Given the description of an element on the screen output the (x, y) to click on. 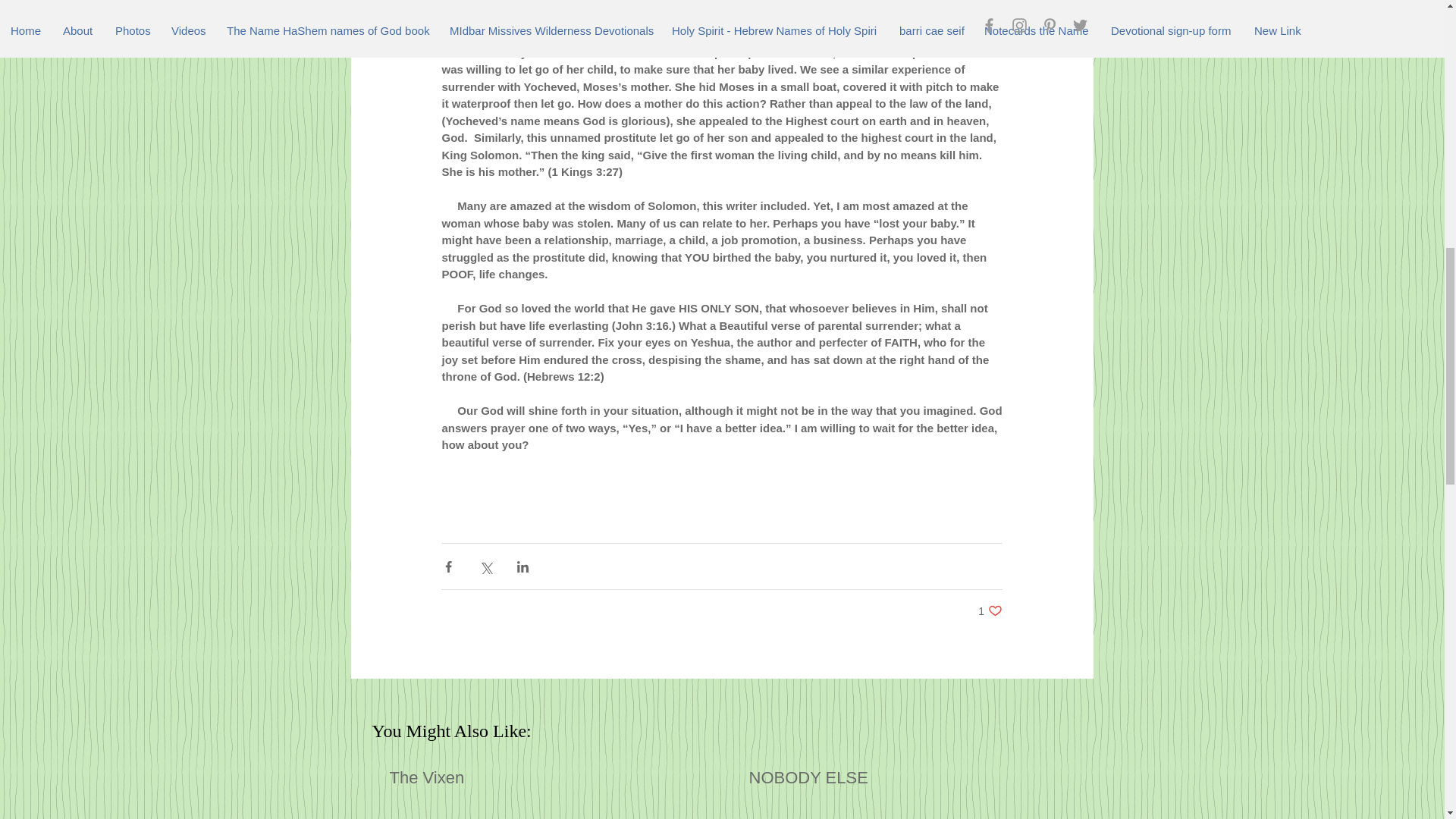
The Vixen (543, 778)
NOBODY ELSE (990, 610)
